Given the description of an element on the screen output the (x, y) to click on. 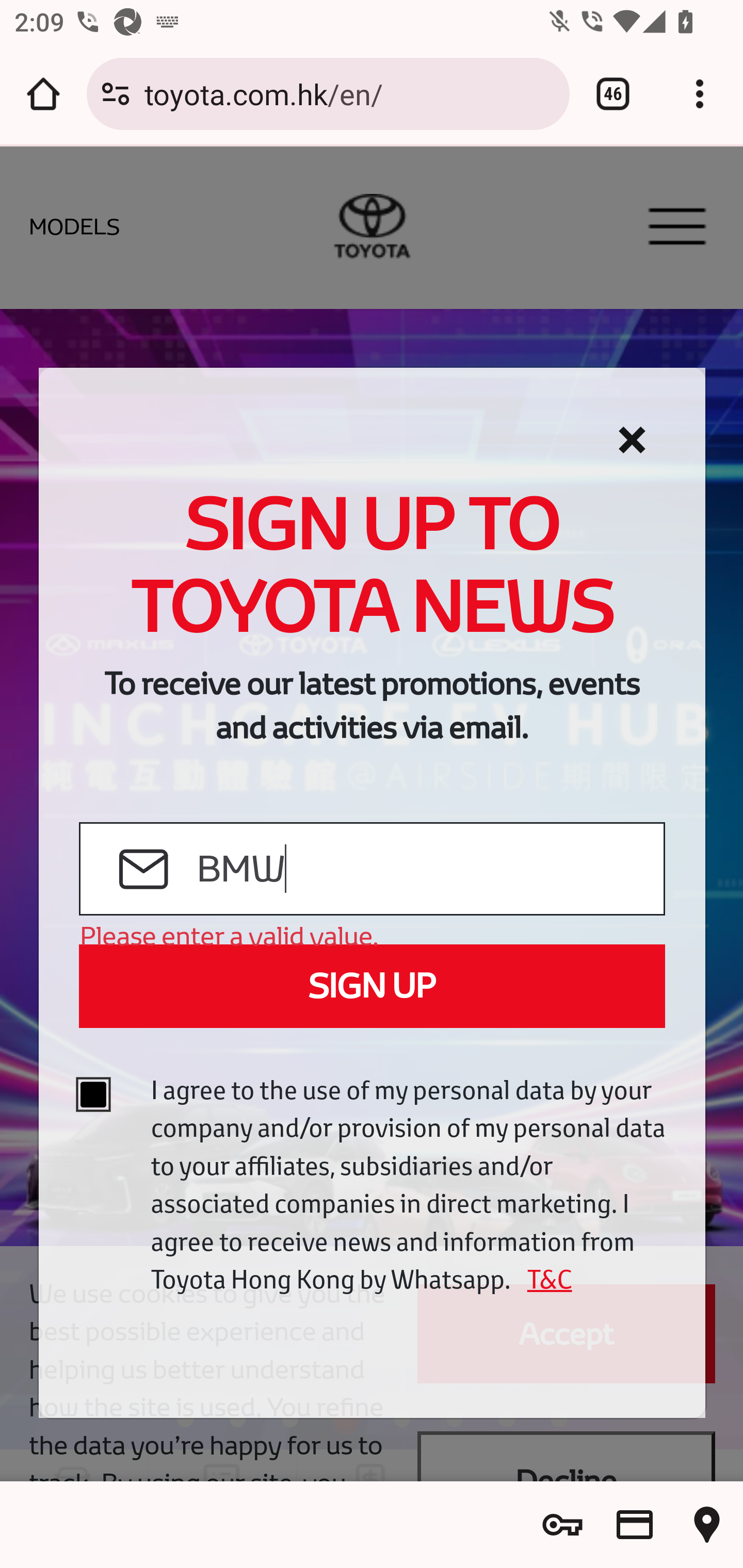
Open the home page (43, 93)
Connection is secure (115, 93)
Switch or close tabs (612, 93)
Customize and control Google Chrome (699, 93)
toyota.com.hk/en/ (349, 92)
Cerrar (631, 440)
BMW (429, 869)
SIGN UP (371, 985)
T&C (543, 1279)
Show saved passwords and password options (562, 1524)
Show saved payment methods (634, 1524)
Show saved addresses (706, 1524)
